Given the description of an element on the screen output the (x, y) to click on. 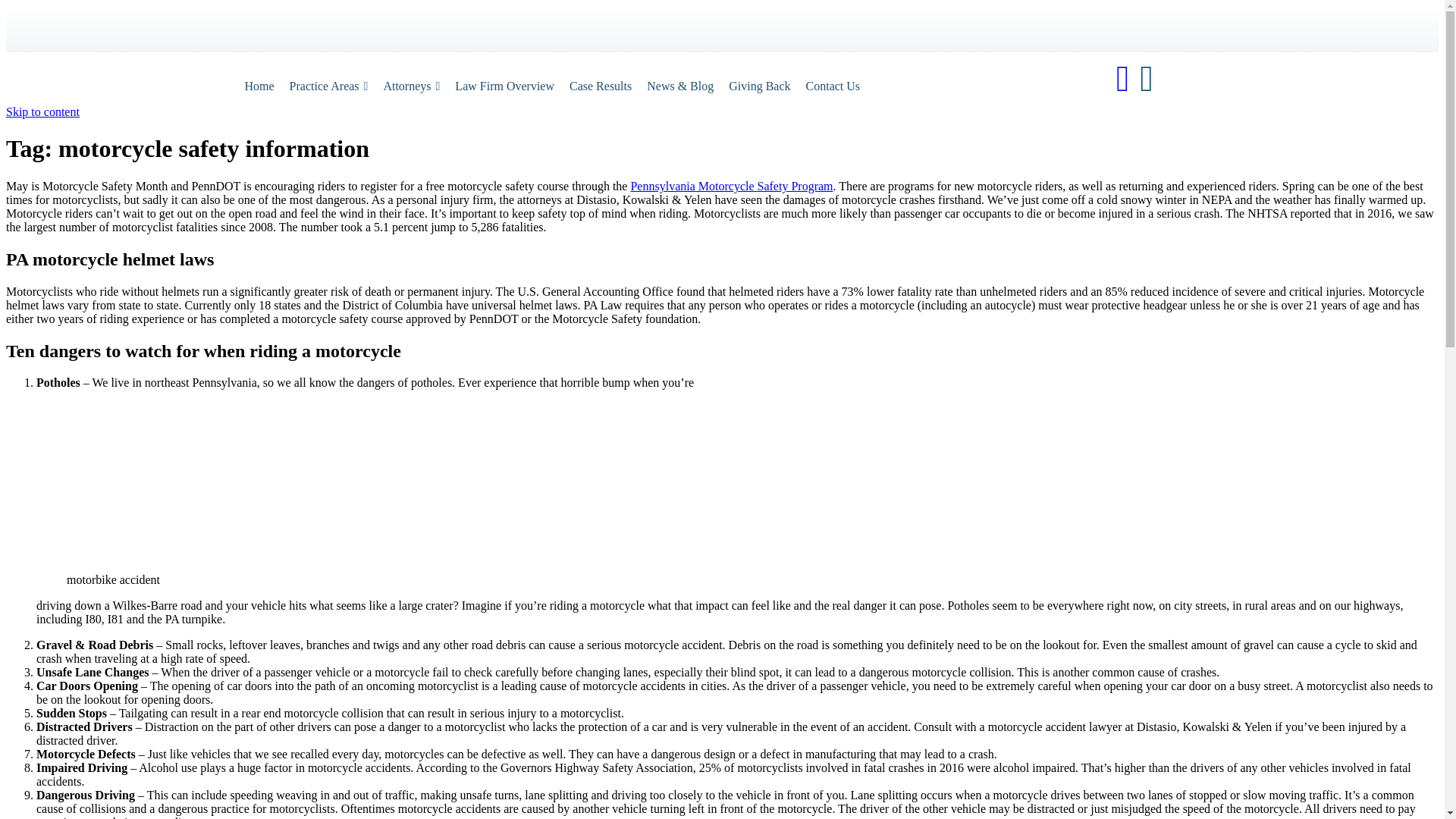
Practice Areas (328, 86)
Case Results (600, 86)
Attorneys (410, 86)
Law Firm Overview (504, 86)
Home (258, 86)
Giving Back (758, 86)
